Given the description of an element on the screen output the (x, y) to click on. 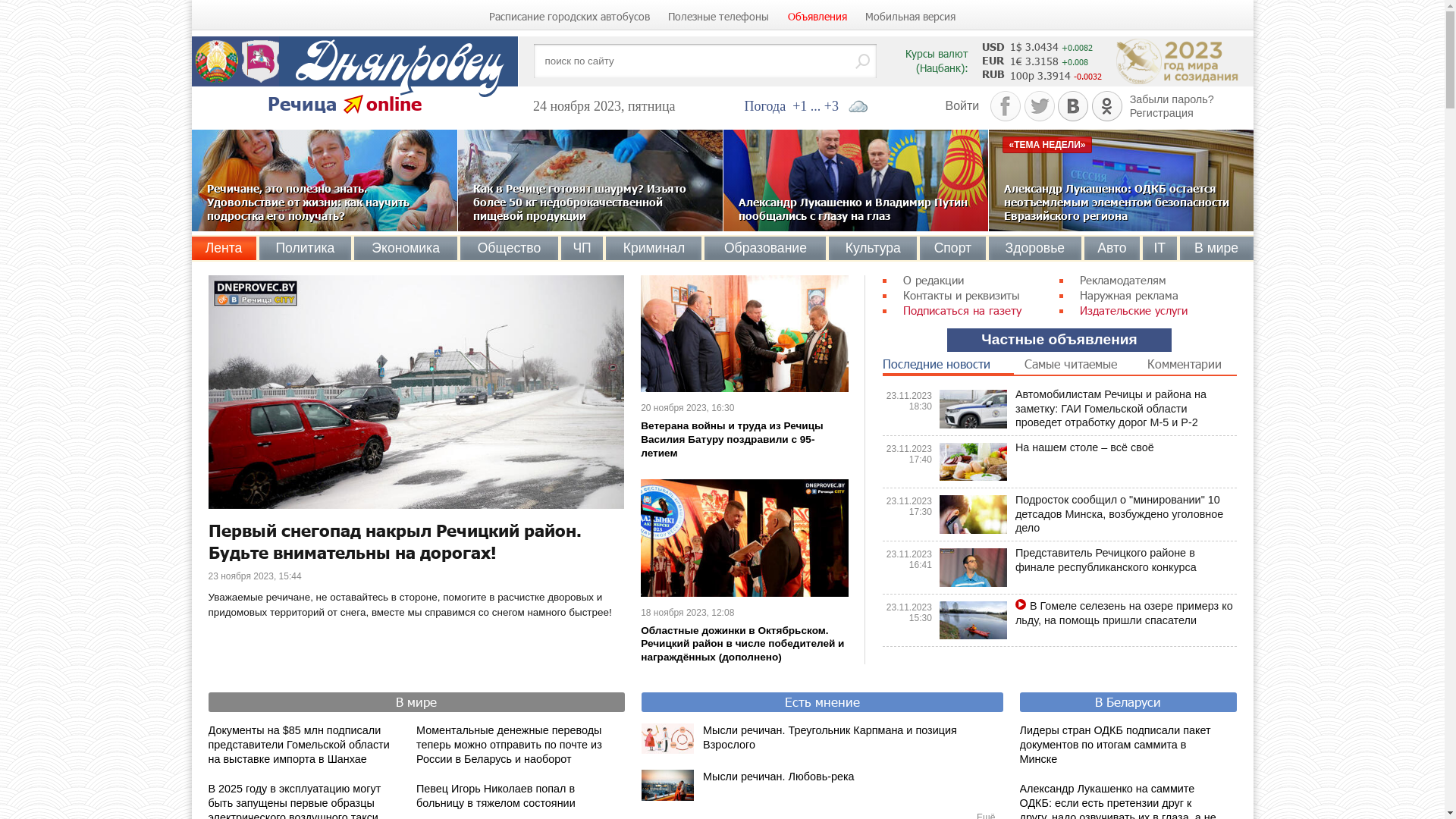
online Element type: text (392, 102)
IT Element type: text (1159, 248)
